Given the description of an element on the screen output the (x, y) to click on. 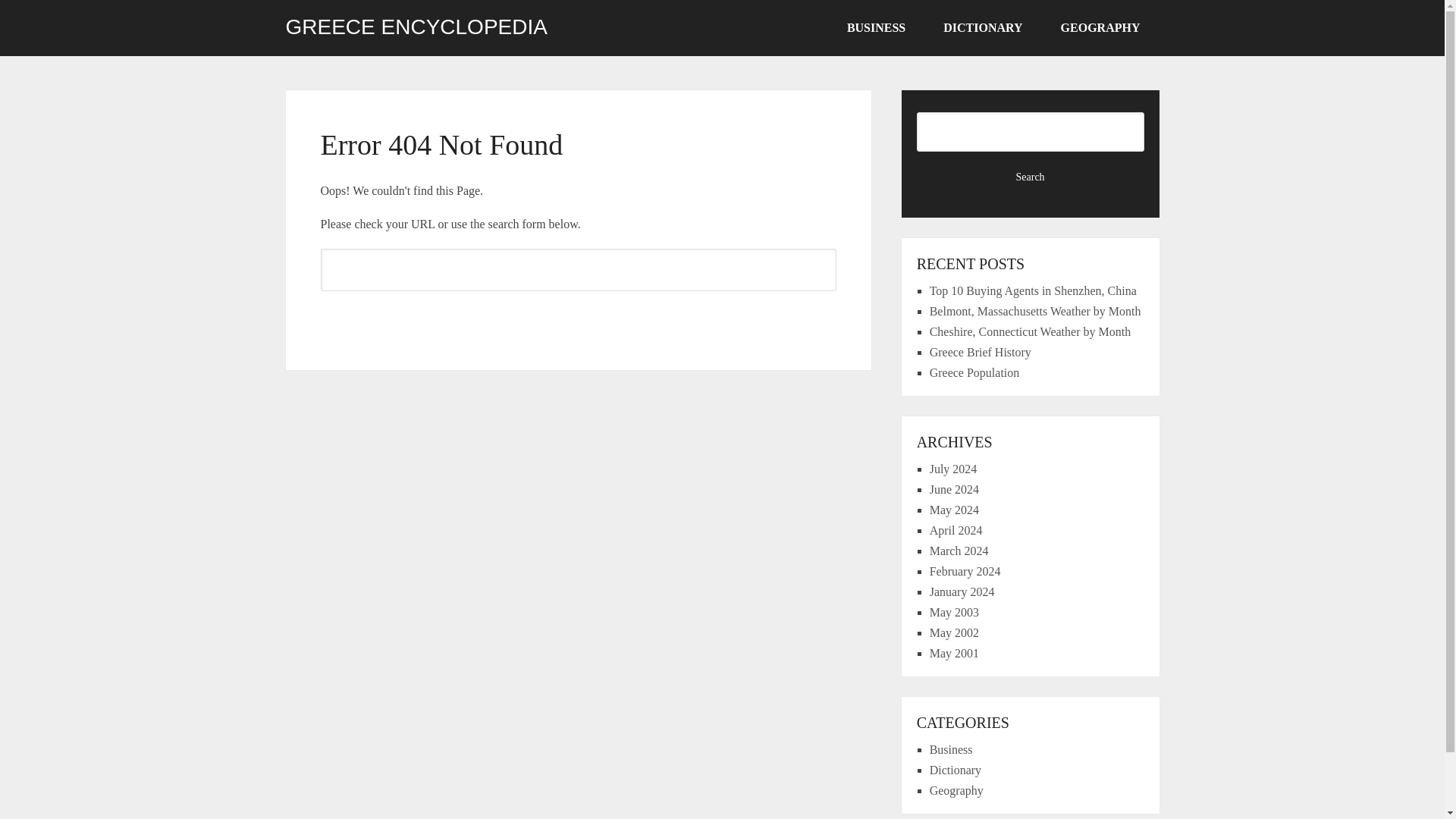
May 2024 (954, 509)
February 2024 (965, 571)
Greece Brief History (980, 351)
June 2024 (954, 489)
Greece Population (975, 372)
Belmont, Massachusetts Weather by Month (1035, 310)
Dictionary (955, 769)
Search (1030, 176)
DICTIONARY (982, 28)
May 2001 (954, 653)
